Given the description of an element on the screen output the (x, y) to click on. 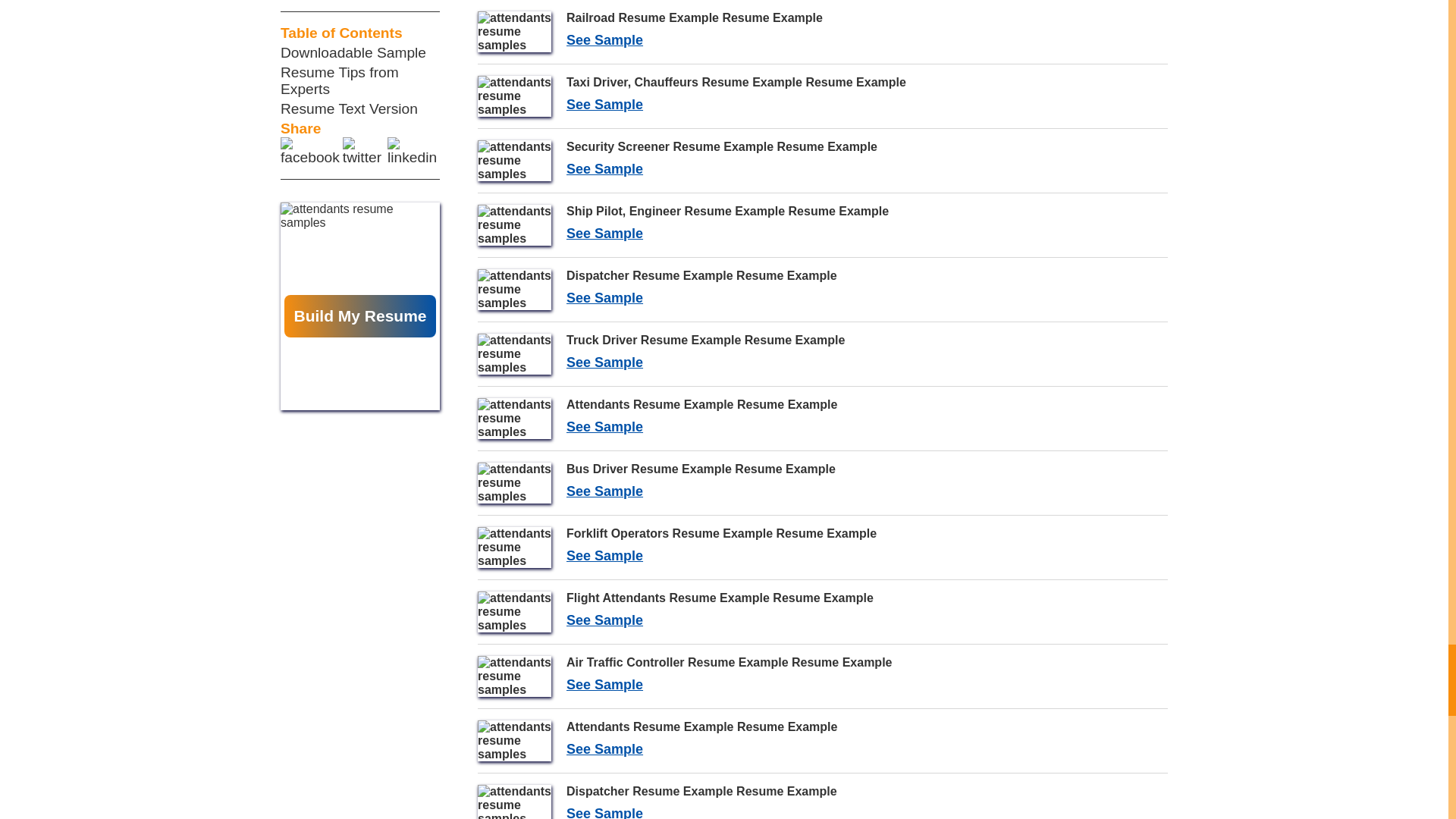
Security Screener Resume Example (822, 160)
Truck Driver Resume Example (822, 160)
Attendants Resume Example (822, 353)
Ship Pilot, Engineer Resume Example (822, 740)
